Given the description of an element on the screen output the (x, y) to click on. 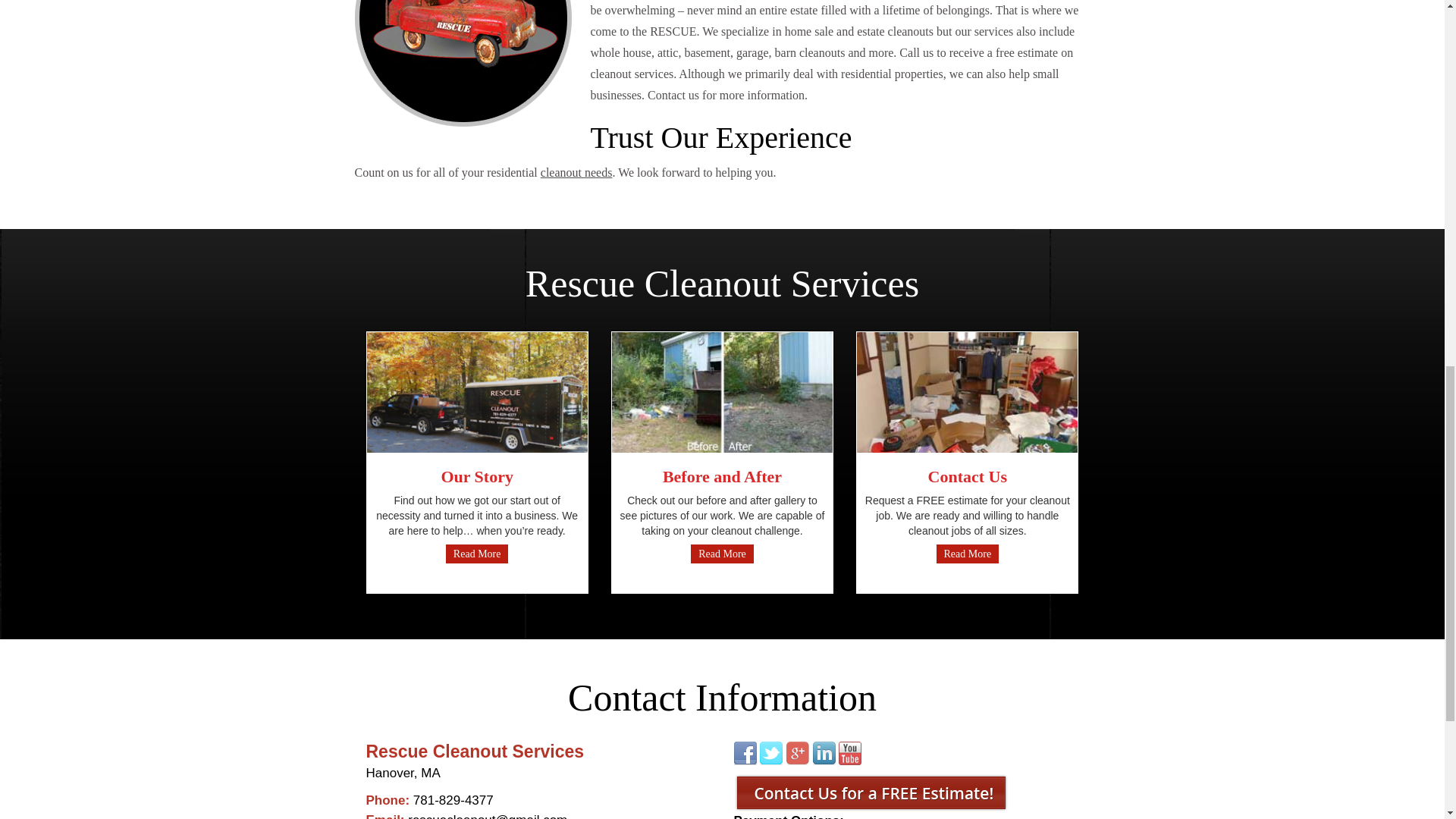
Read More (476, 553)
Google Plus (797, 753)
Facebook (745, 753)
Read More (722, 553)
YouTube (849, 753)
cleanout needs (576, 172)
Read More (967, 553)
LinkedIn (823, 753)
Twitter (771, 753)
